Given the description of an element on the screen output the (x, y) to click on. 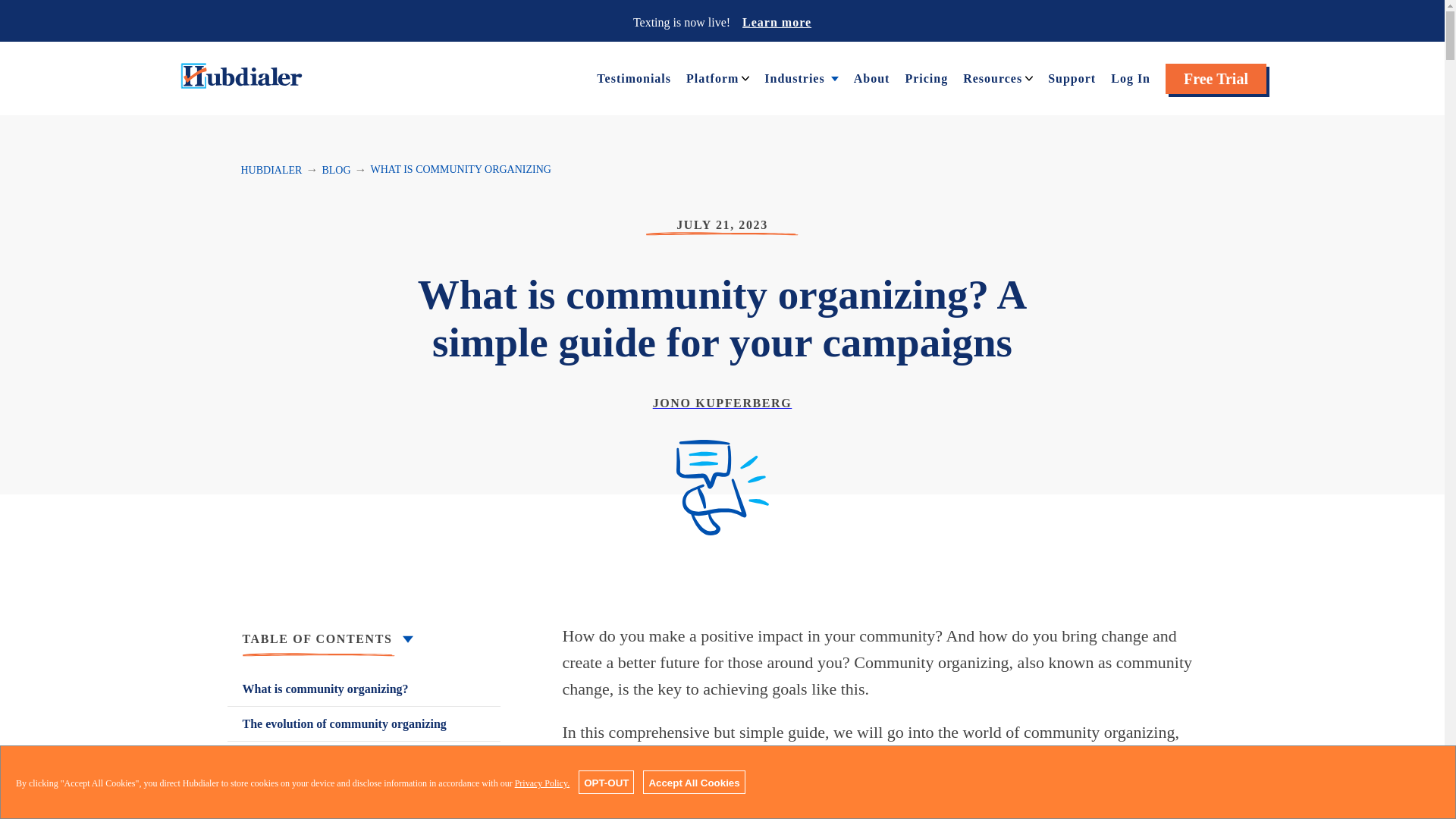
Learn more (776, 21)
WHAT IS COMMUNITY ORGANIZING (461, 169)
Platform (711, 77)
The evolution of community organizing (363, 723)
About (871, 77)
Log In (1130, 77)
Industries (794, 77)
Pricing (925, 77)
Free Trial (1216, 78)
What are the other steps in successful community organizing? (363, 807)
Resources (992, 77)
Testimonials (633, 77)
Privacy Policy. (542, 783)
Support (1072, 77)
What is community organizing? (363, 688)
